Given the description of an element on the screen output the (x, y) to click on. 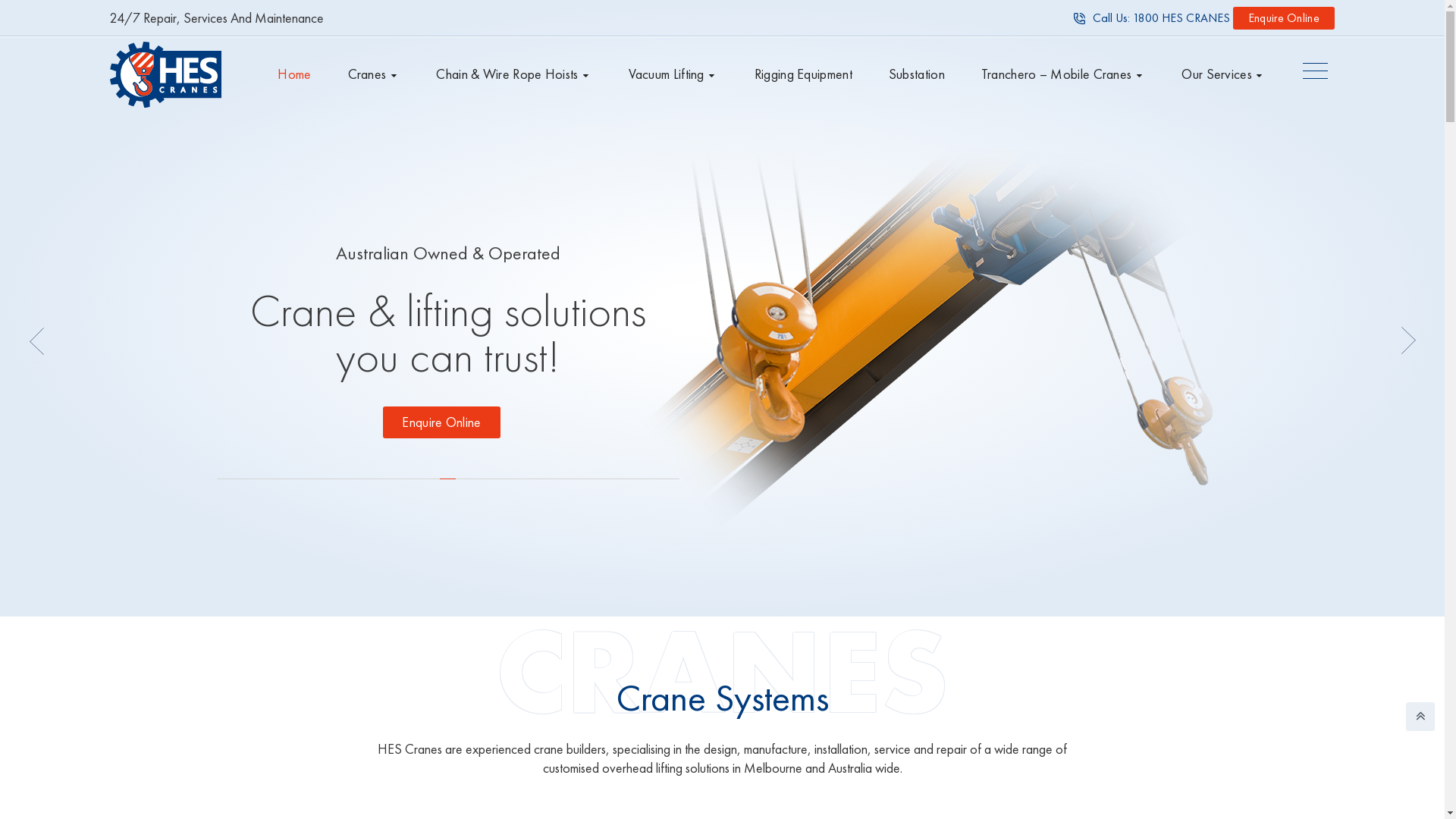
Banner 01 Element type: hover (958, 357)
Rigging Equipment Element type: text (803, 74)
Substation Element type: text (916, 74)
Chain & Wire Rope Hoists Element type: text (513, 74)
Enquire Online Element type: text (441, 422)
Call Us: 1800 HES CRANES Element type: text (1151, 17)
Prev Element type: text (36, 341)
Home Element type: text (293, 74)
Our Services Element type: text (1223, 74)
Cranes Element type: text (374, 74)
Vacuum Lifting Element type: text (673, 74)
HES Cranes Home Element type: hover (165, 74)
Next Element type: text (1408, 341)
Enquire Online Element type: text (1283, 17)
